Given the description of an element on the screen output the (x, y) to click on. 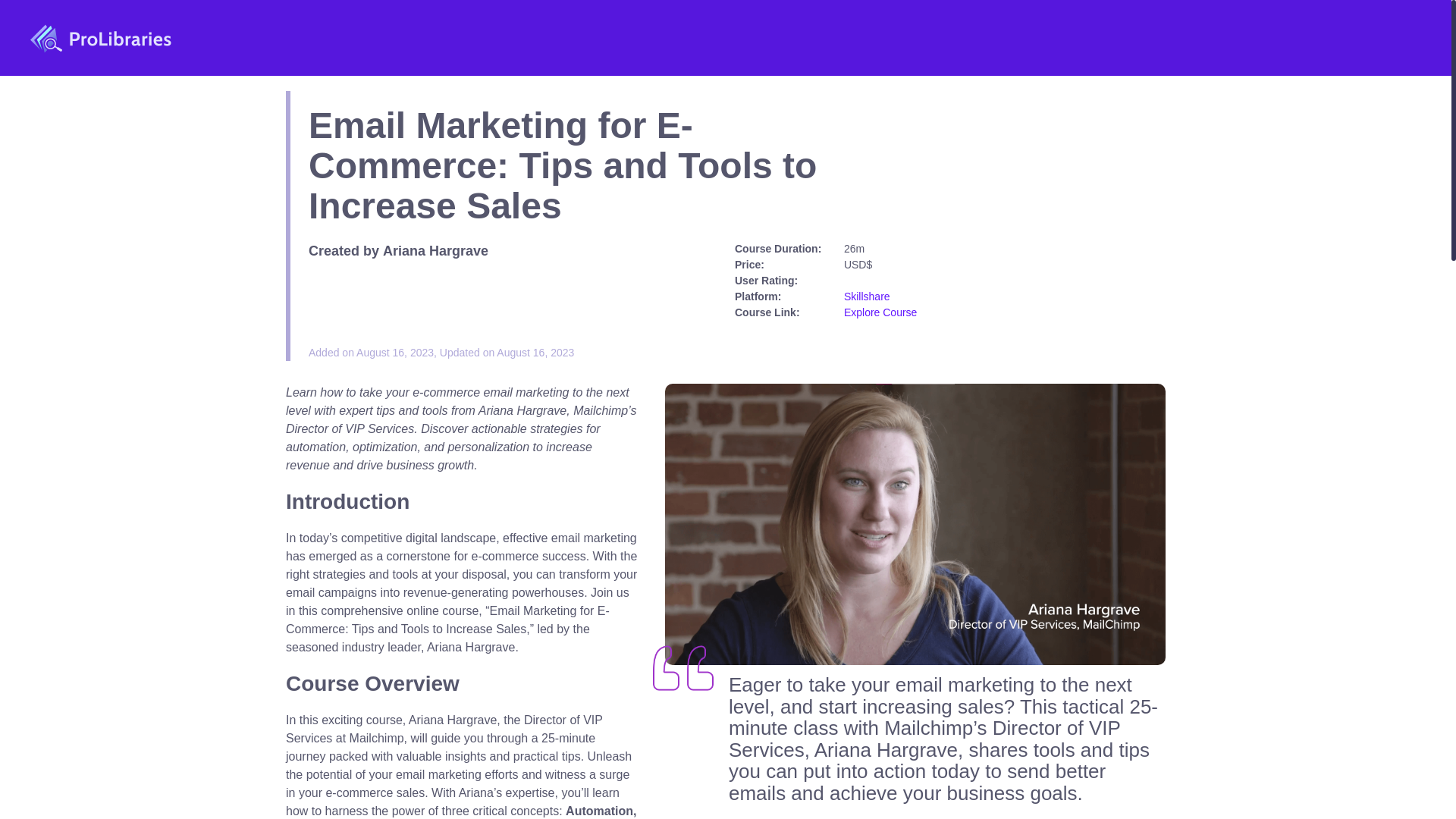
Skillshare (866, 296)
ProLibraries (100, 38)
Explore Course (880, 312)
